Given the description of an element on the screen output the (x, y) to click on. 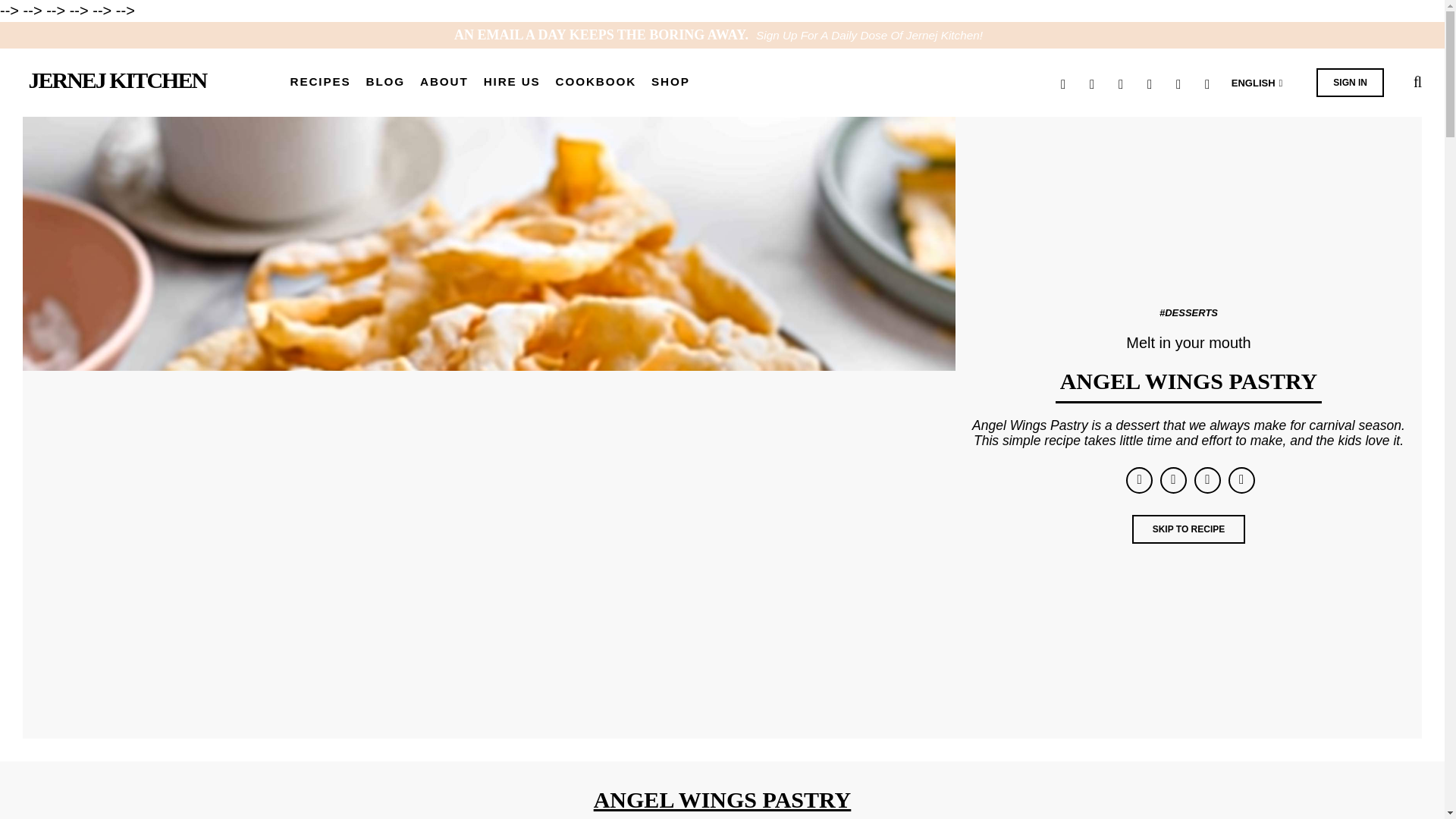
SIGN IN (1350, 82)
HIRE US (511, 83)
RECIPES (319, 83)
JERNEJ KITCHEN (117, 80)
SKIP TO RECIPE (1189, 529)
COOKBOOK (596, 83)
Home (117, 80)
ABOUT (444, 83)
BLOG (386, 83)
